Given the description of an element on the screen output the (x, y) to click on. 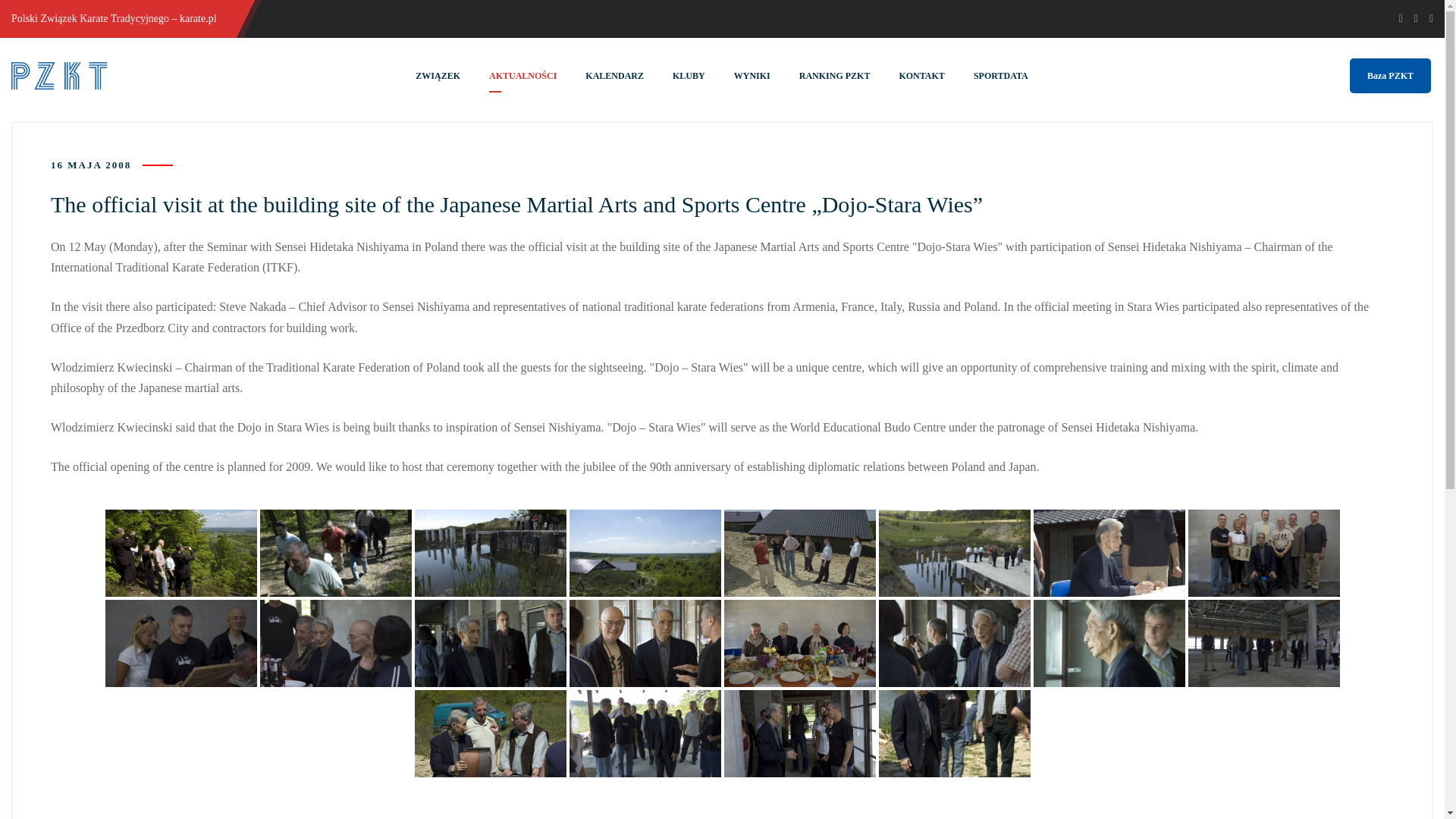
Baza PZKT (1390, 75)
